Given the description of an element on the screen output the (x, y) to click on. 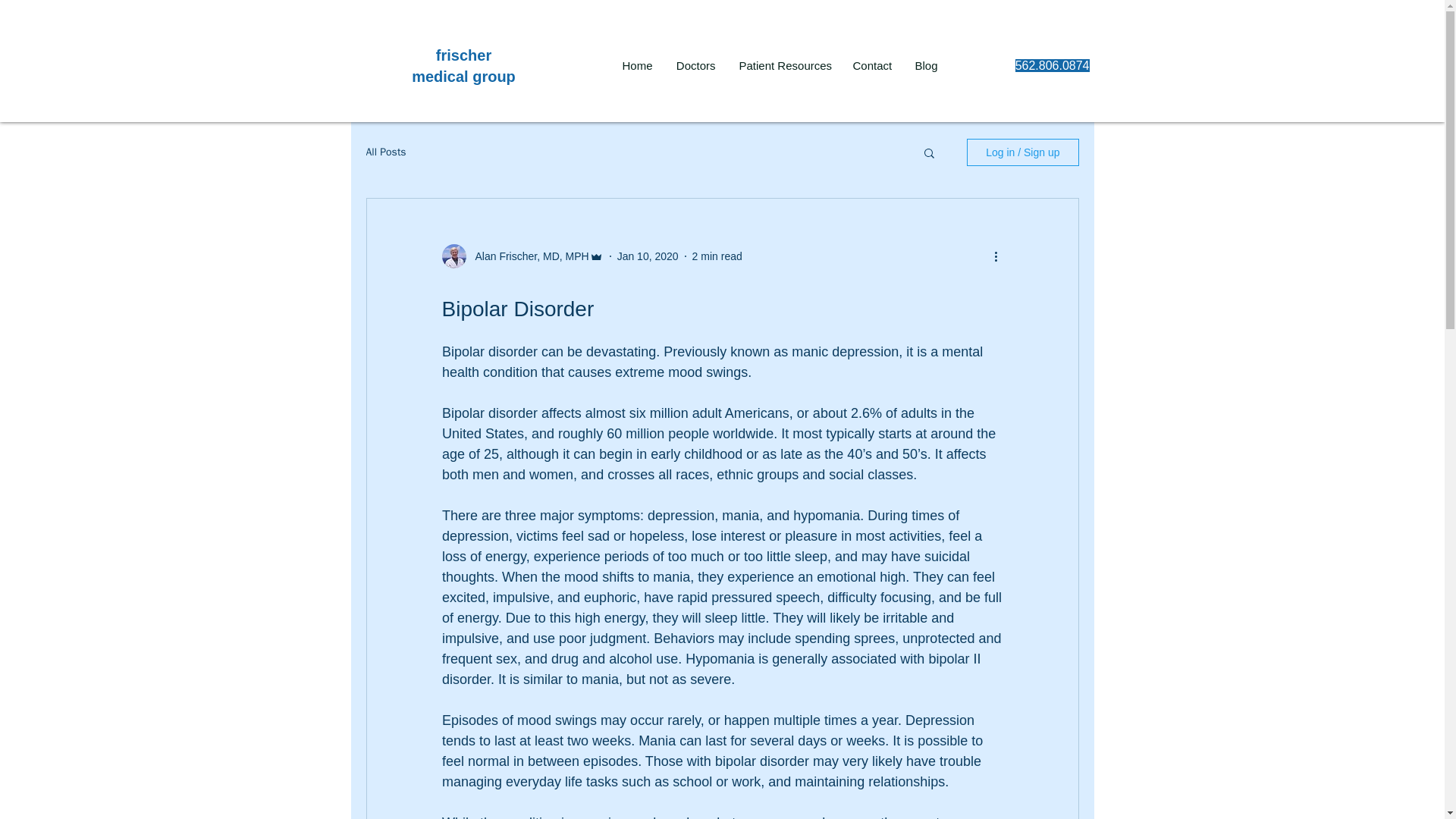
Patient Resources (783, 65)
All Posts (385, 151)
Alan Frischer, MD, MPH (526, 256)
Blog (925, 65)
Jan 10, 2020 (647, 256)
Doctors (694, 65)
Contact (871, 65)
Home (636, 65)
2 min read (717, 256)
